Given the description of an element on the screen output the (x, y) to click on. 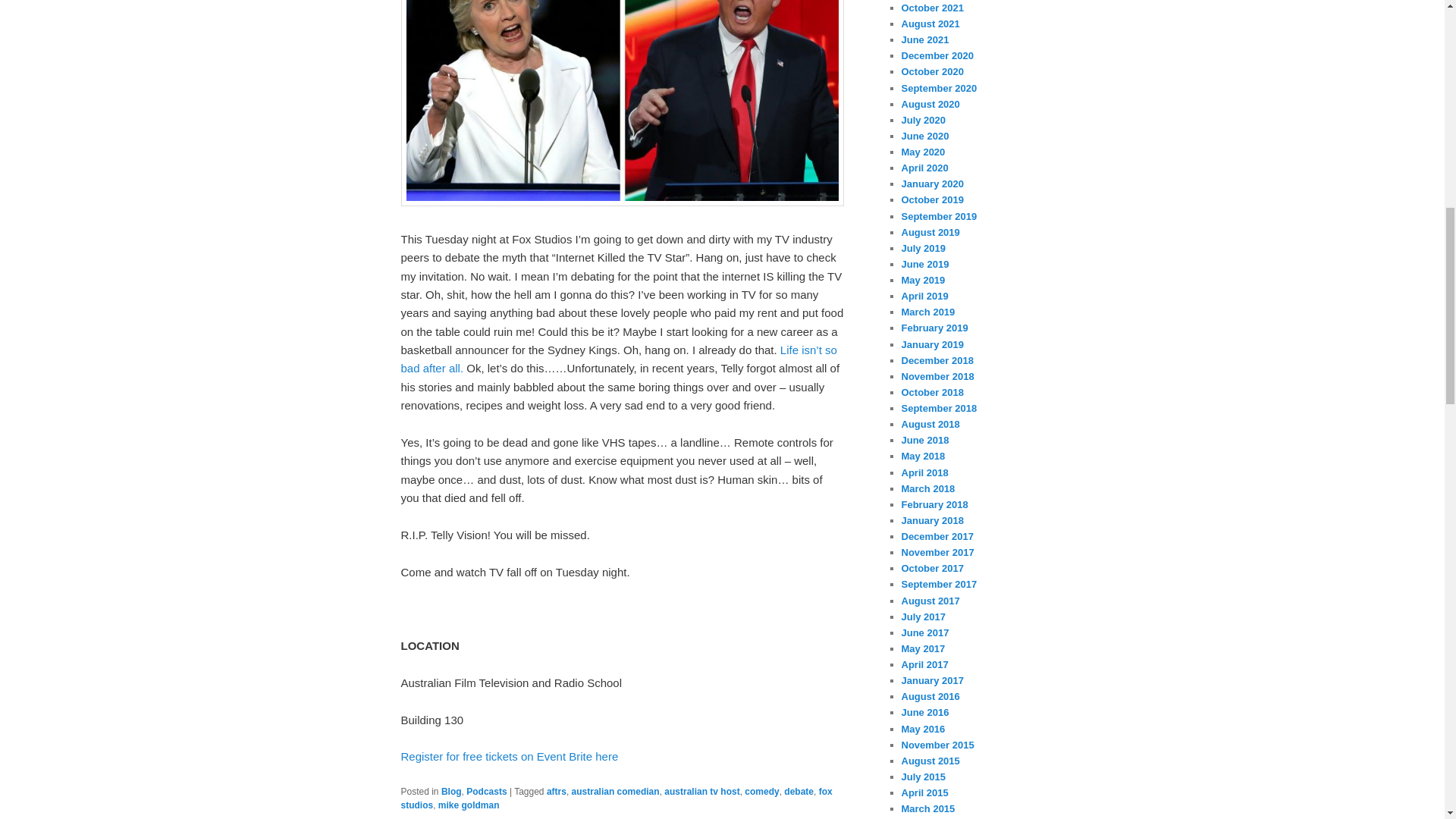
comedy (761, 791)
Blog (451, 791)
australian comedian (615, 791)
australian tv host (701, 791)
fox studios (615, 798)
aftrs (556, 791)
debate (798, 791)
Register for free tickets on Event Brite here  (510, 756)
Podcasts (485, 791)
mike goldman (468, 805)
